Given the description of an element on the screen output the (x, y) to click on. 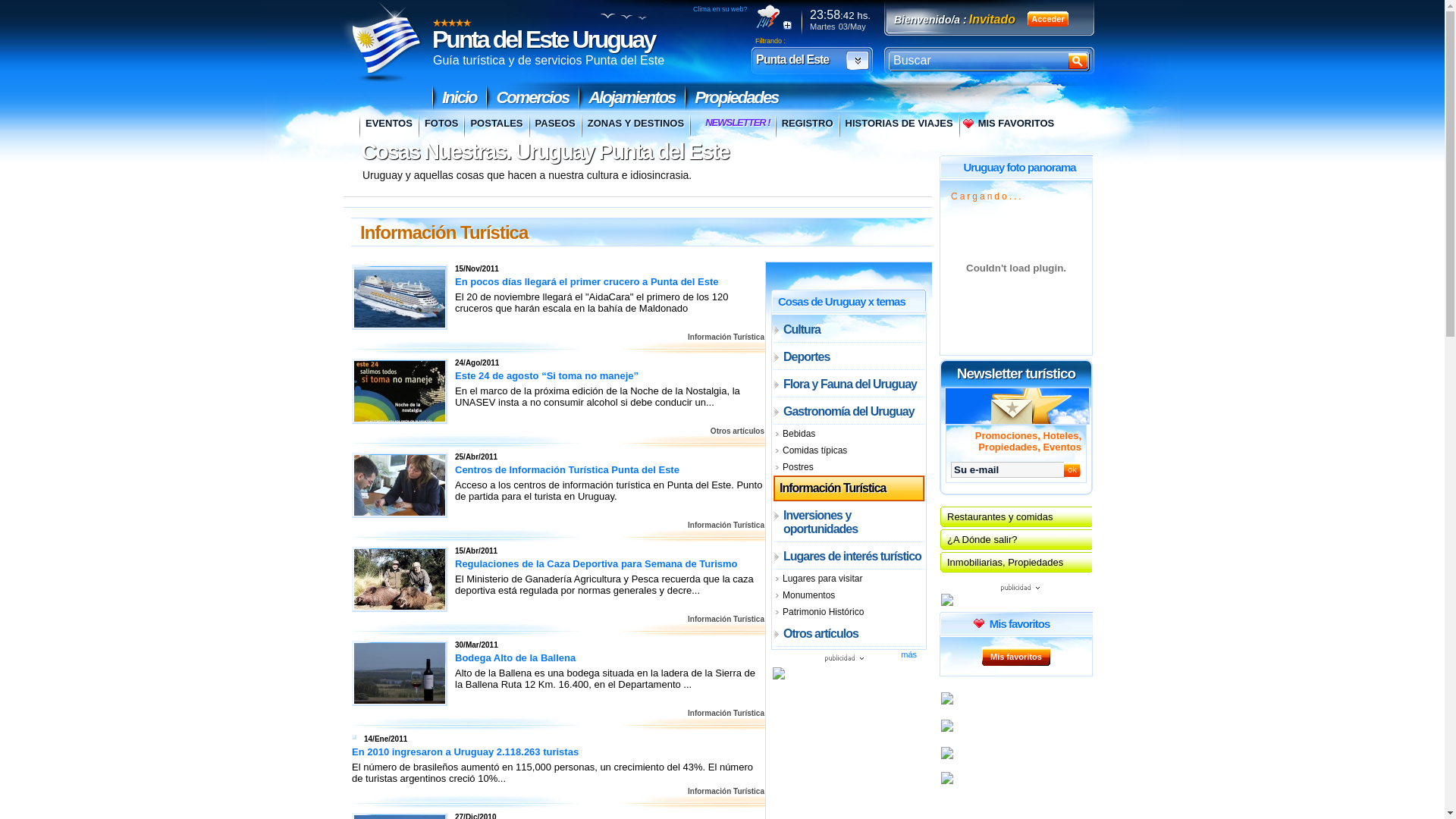
Cosas de Uruguay x temas Element type: text (841, 300)
REGISTRO Element type: text (806, 125)
Mis favoritos Element type: text (1016, 655)
Bebidas Element type: text (848, 433)
En 2010 ingresaron a Uruguay 2.118.263 turistas Element type: text (469, 751)
NEWSLETTER ! Element type: text (737, 124)
Regulaciones de la Caza Deportiva para Semana de Turismo Element type: text (601, 563)
MIS FAVORITOS Element type: text (1009, 125)
Flora y Fauna del Uruguay Element type: text (848, 383)
ZONAS Y DESTINOS Element type: text (634, 125)
Cultura Element type: text (848, 329)
FOTOS Element type: text (440, 125)
Inversiones y oportunidades Element type: text (848, 522)
Punta del Este Uruguay Element type: text (543, 39)
Clima en su web? Element type: text (720, 8)
Uruguay foto panorama Element type: text (1019, 165)
Acceder Element type: text (1047, 18)
Bodega Alto de la Ballena Element type: text (520, 657)
Monumentos Element type: text (848, 594)
Regulaciones de la Caza Deportiva para Semana de Turismo Element type: hover (399, 579)
Alojamientos Element type: text (631, 96)
Punta del Este Uruguay Element type: hover (381, 41)
Inicio Element type: text (459, 96)
EVENTOS Element type: text (388, 125)
Comercios Element type: text (532, 96)
Punta del Este Element type: text (813, 59)
Lugares para visitar Element type: text (848, 578)
POSTALES Element type: text (495, 125)
PASEOS Element type: text (554, 125)
Postres Element type: text (848, 466)
ok Element type: text (1071, 468)
Inmobiliarias, Propiedades Element type: text (1016, 562)
Bodega Alto de la Ballena Element type: hover (399, 673)
Restaurantes y comidas Element type: text (1016, 516)
Propiedades Element type: text (735, 96)
Deportes Element type: text (848, 356)
HISTORIAS DE VIAJES Element type: text (898, 125)
